Given the description of an element on the screen output the (x, y) to click on. 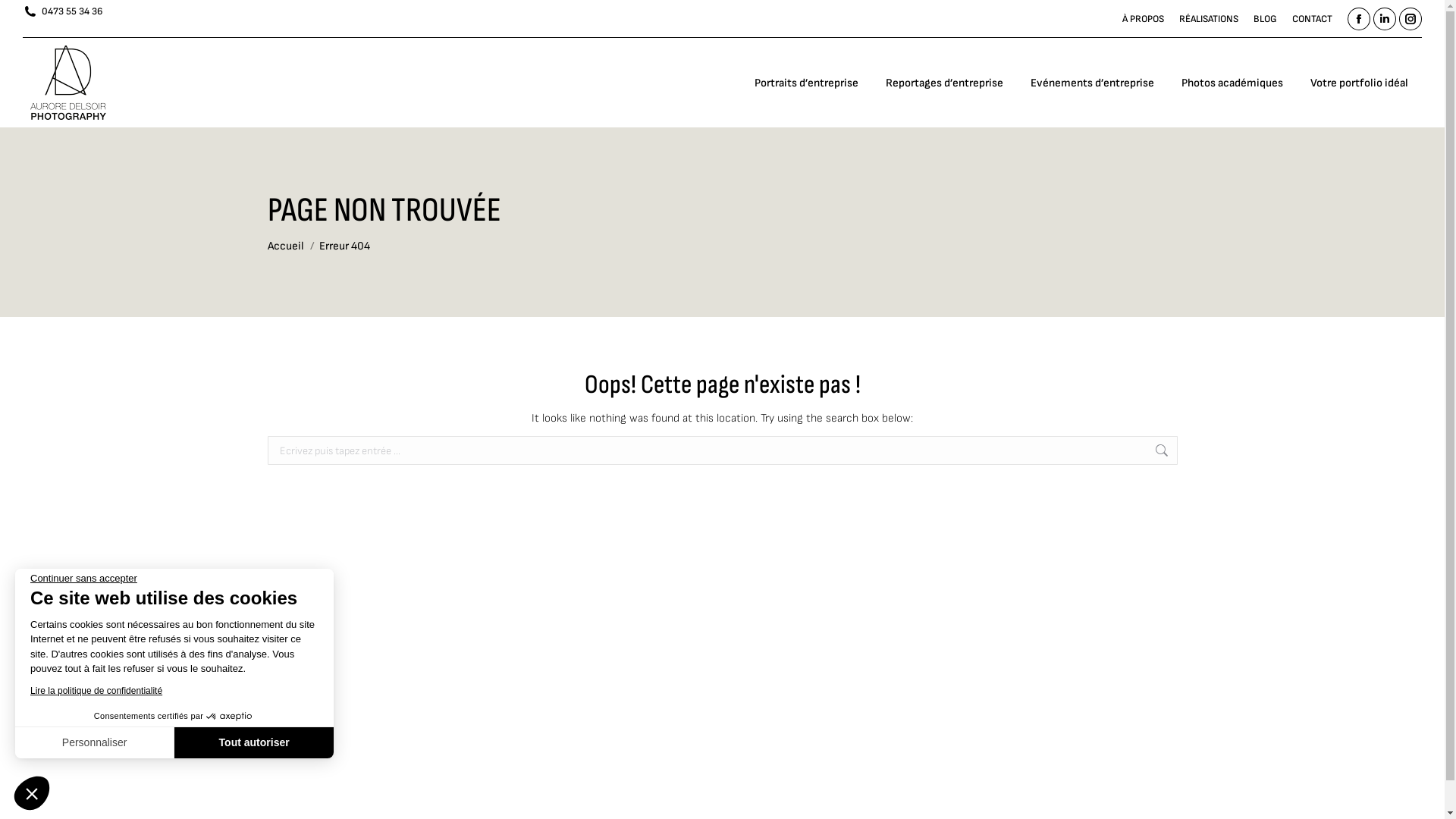
Go! Element type: text (1200, 458)
Facebook page opens in new window Element type: text (1358, 18)
BLOG Element type: text (1265, 19)
0473 55 34 36 Element type: text (62, 11)
Accueil Element type: text (284, 245)
CONTACT Element type: text (1312, 19)
LinkedIn page opens in new window Element type: text (1384, 18)
Instagram page opens in new window Element type: text (1410, 18)
